Given the description of an element on the screen output the (x, y) to click on. 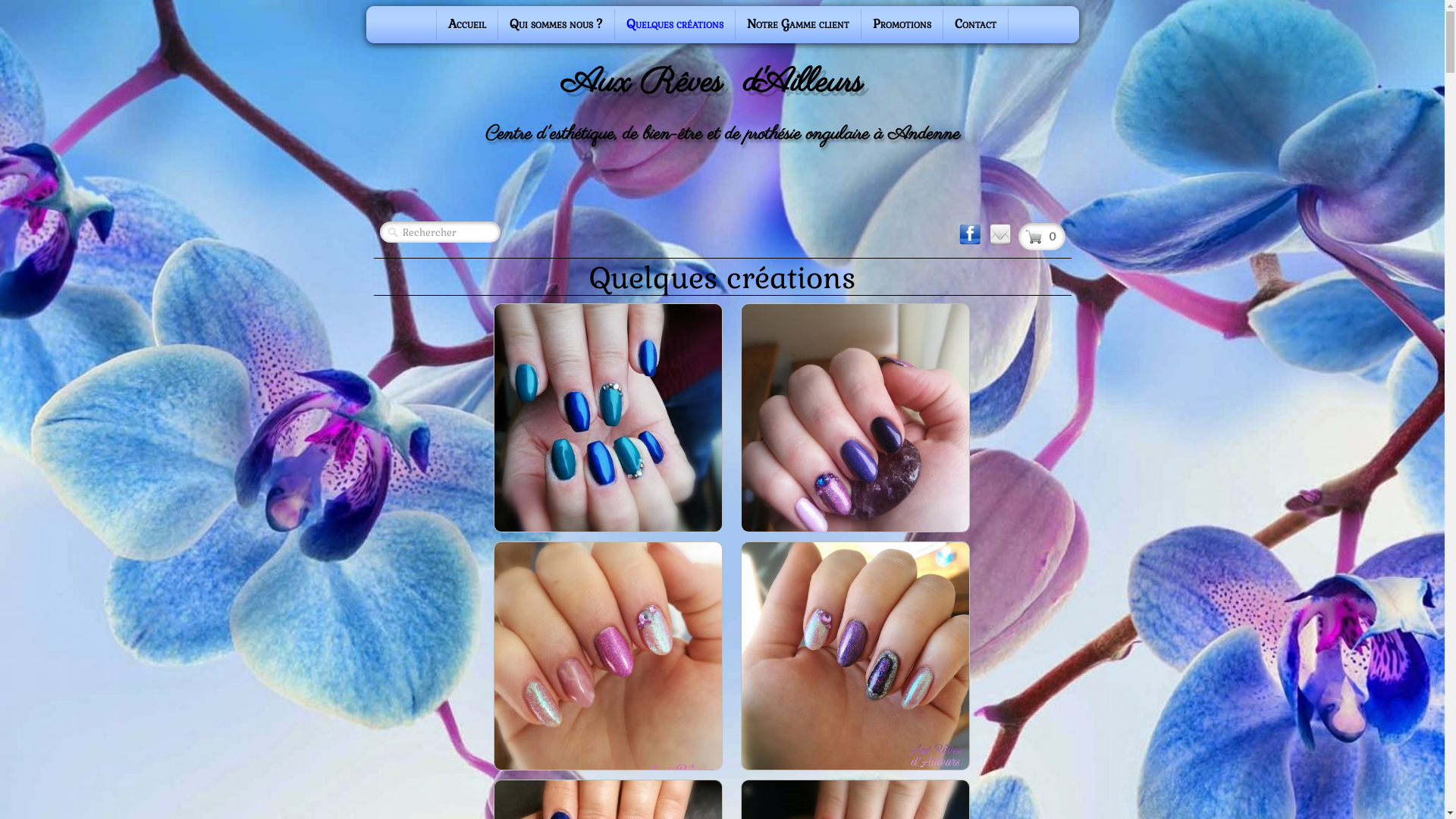
Contact Element type: text (975, 24)
Promotions Element type: text (901, 24)
Notre Gamme client Element type: text (797, 24)
Qui sommes nous ? Element type: text (556, 24)
0 Element type: text (1040, 236)
Accueil Element type: text (466, 24)
